Given the description of an element on the screen output the (x, y) to click on. 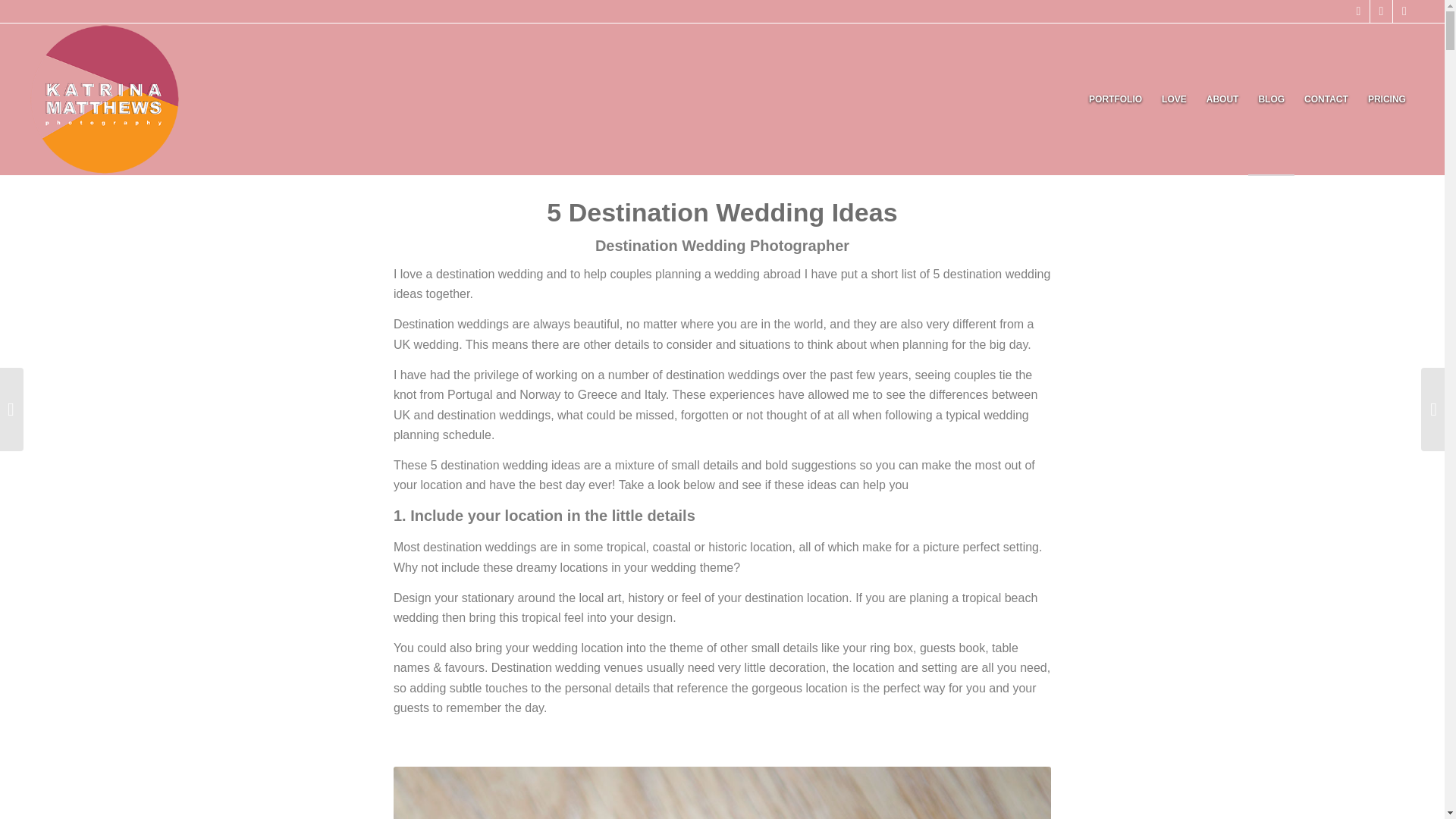
Instagram (1380, 11)
Pinterest (1404, 11)
Facebook (1359, 11)
Katrina Matthews Final Circle Logo (104, 99)
